Given the description of an element on the screen output the (x, y) to click on. 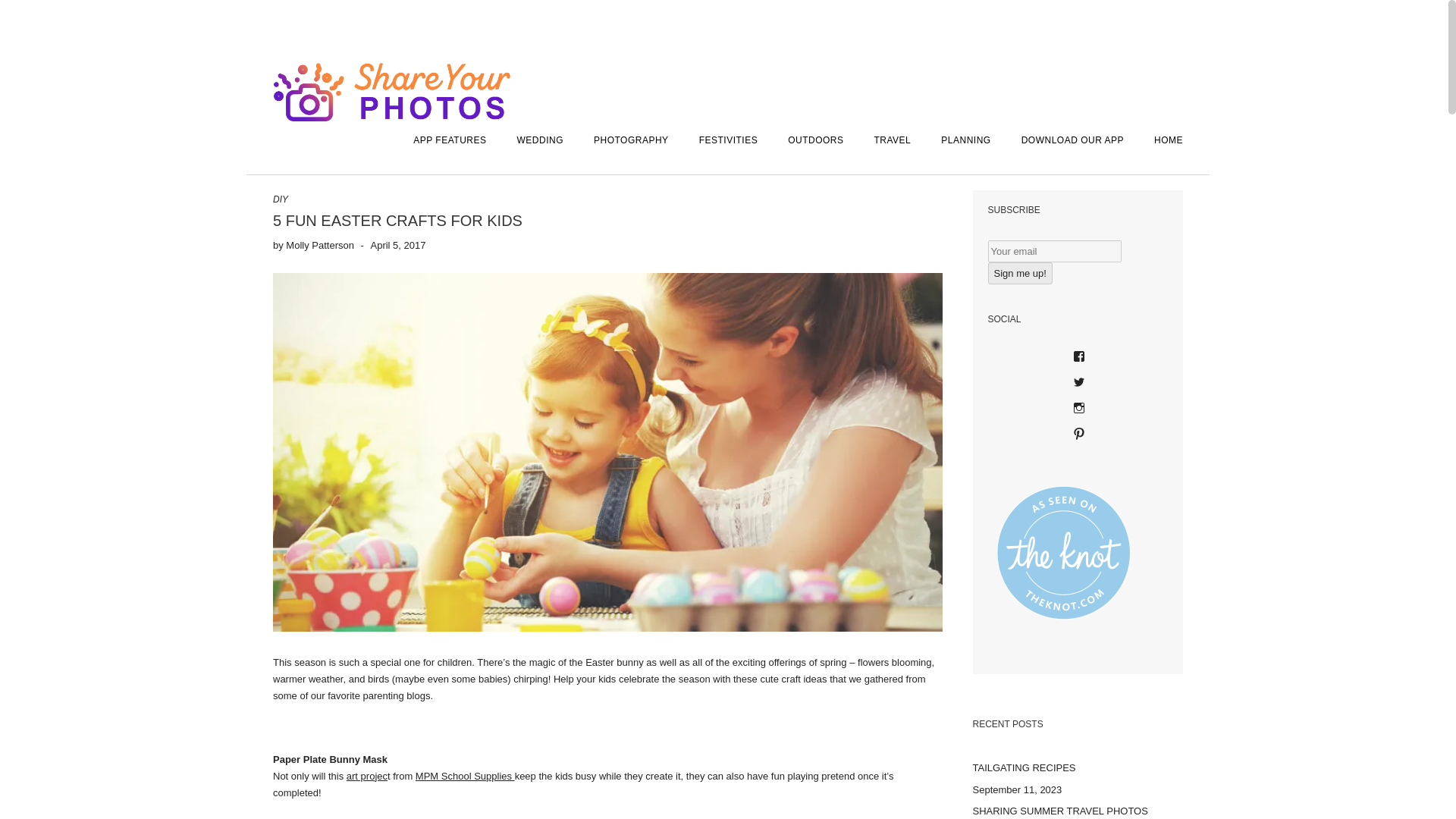
TRAVEL (892, 139)
Sign me up! (1019, 273)
PHOTOGRAPHY (631, 139)
WEDDING (539, 139)
FESTIVITIES (728, 139)
MPM School Supplies (464, 776)
PLANNING (966, 139)
art projec (366, 776)
APP FEATURES (448, 139)
OUTDOORS (816, 139)
HOME (1160, 139)
DIY (280, 199)
DOWNLOAD OUR APP (1072, 139)
